Given the description of an element on the screen output the (x, y) to click on. 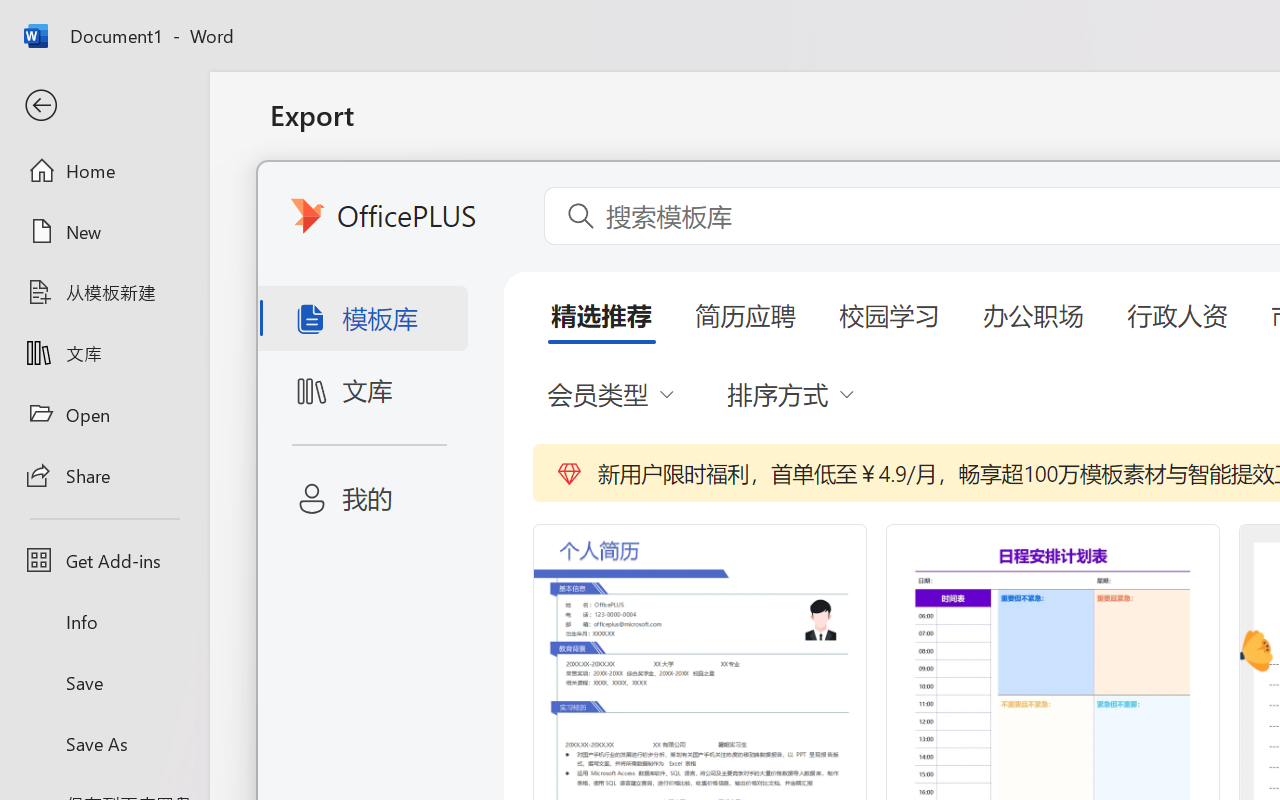
Create PDF/XPS (858, 399)
Create PDF/XPS Document (507, 205)
Get Add-ins (104, 560)
Back (104, 106)
Change File Type (507, 291)
